Given the description of an element on the screen output the (x, y) to click on. 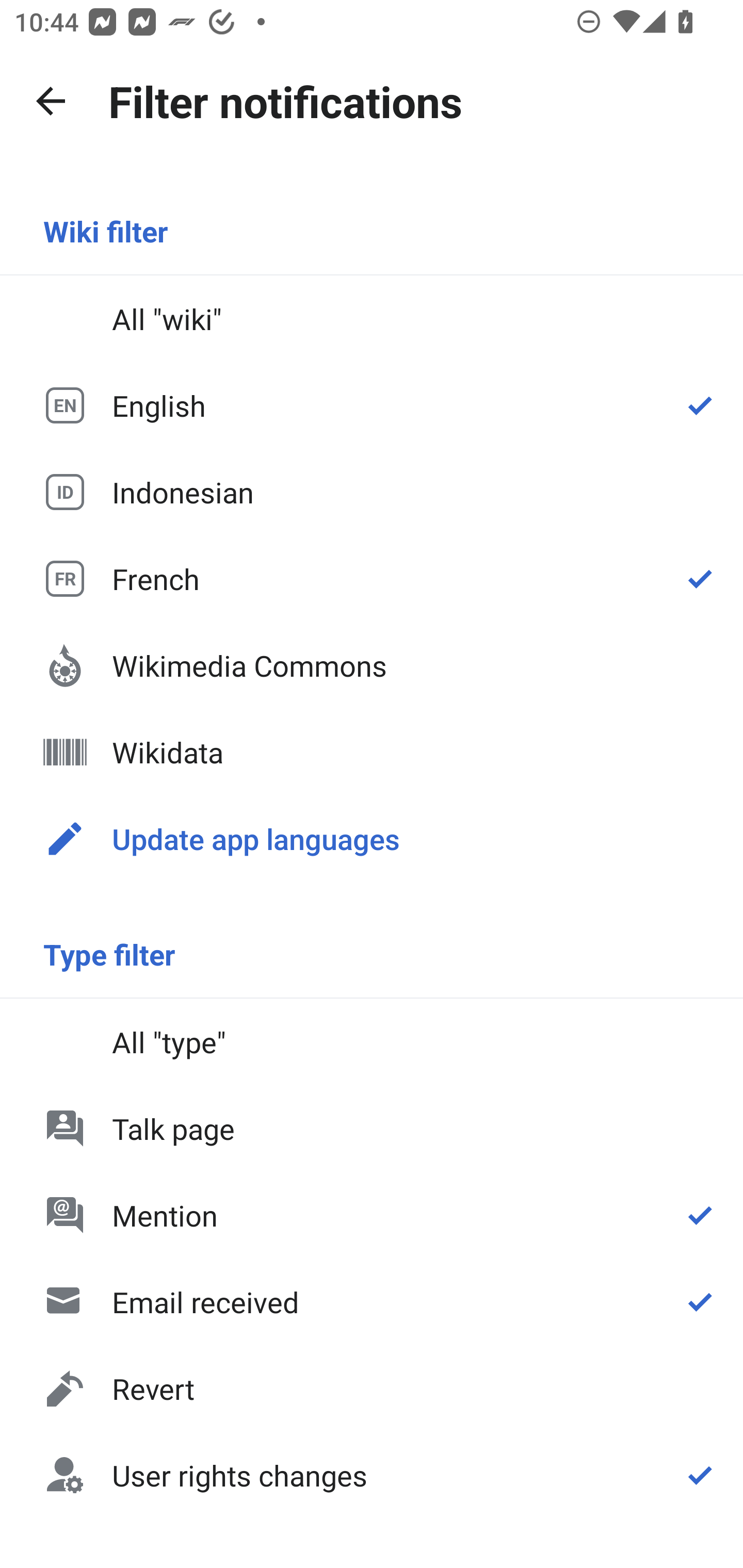
Navigate up (50, 101)
All "wiki" (371, 318)
EN English (371, 405)
ID Indonesian (371, 491)
FR French (371, 578)
Wikimedia Commons (371, 665)
Wikidata (371, 751)
Update app languages (371, 837)
All "type" (371, 1041)
Talk page (371, 1128)
Mention (371, 1215)
Email received (371, 1302)
Revert (371, 1388)
User rights changes (371, 1474)
